Given the description of an element on the screen output the (x, y) to click on. 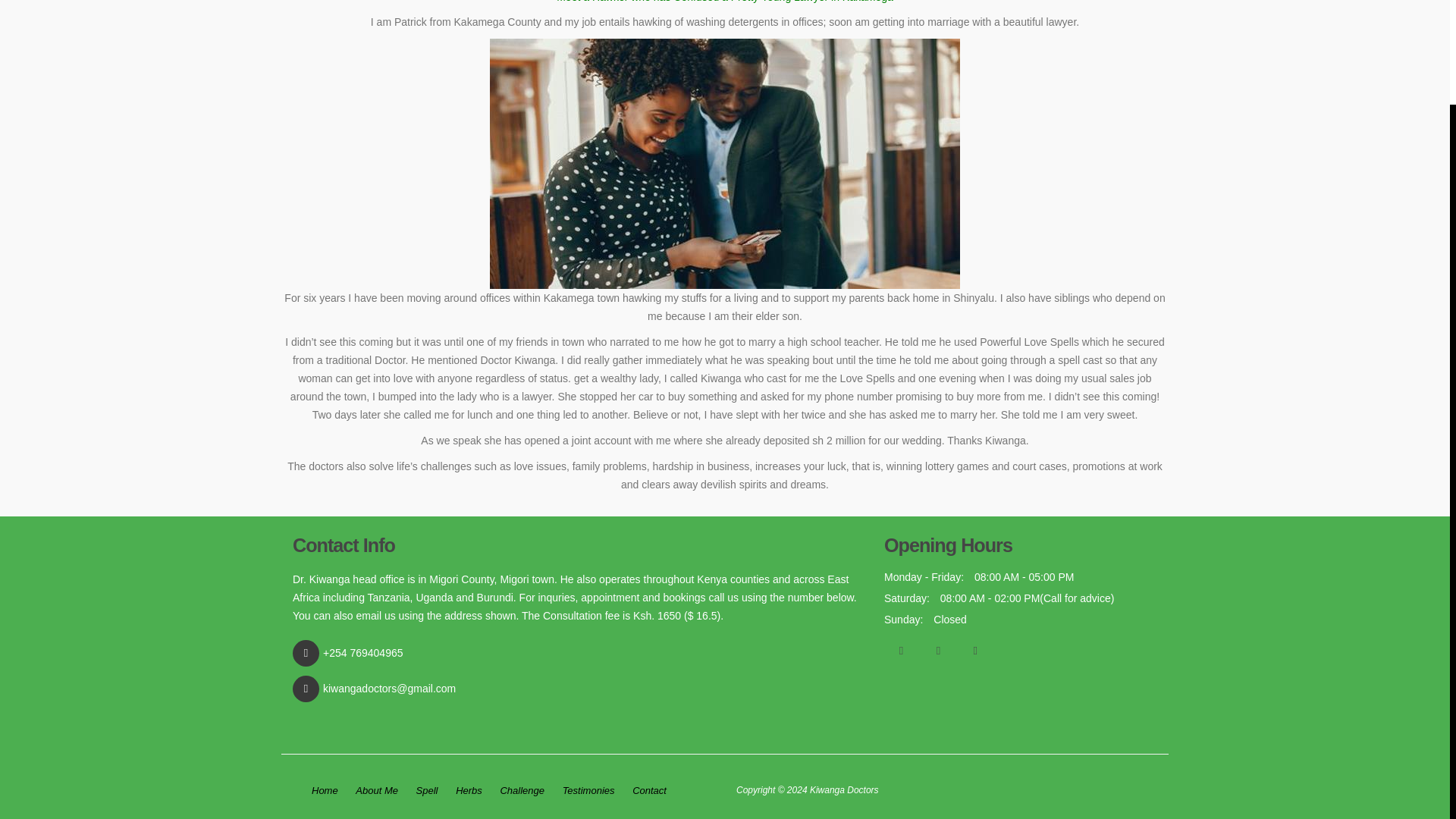
Challenge (521, 790)
Home (325, 790)
Contact (649, 790)
Testimonies (588, 790)
Spell (427, 790)
About Me (376, 790)
Herbs (468, 790)
